Given the description of an element on the screen output the (x, y) to click on. 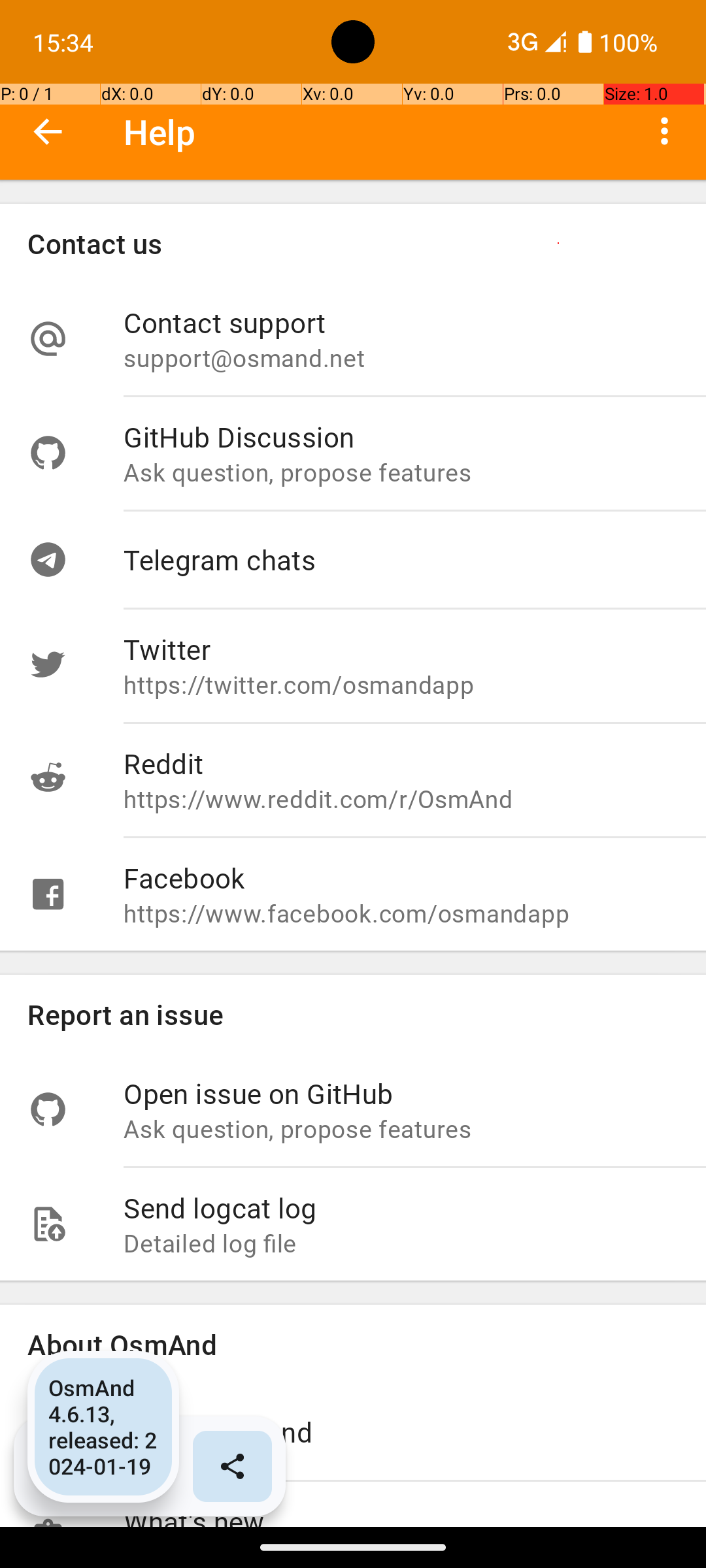
Help Element type: android.widget.TextView (159, 131)
More actions Element type: android.widget.Button (664, 131)
Contact us Element type: android.widget.TextView (352, 242)
Contact support Element type: android.widget.TextView (400, 322)
support@osmand.net Element type: android.widget.TextView (400, 357)
GitHub Discussion Element type: android.widget.TextView (400, 436)
Ask question, propose features Element type: android.widget.TextView (400, 471)
Telegram chats Element type: android.widget.TextView (400, 559)
Twitter Element type: android.widget.TextView (400, 648)
https://twitter.com/osmandapp Element type: android.widget.TextView (400, 684)
Reddit Element type: android.widget.TextView (400, 763)
https://www.reddit.com/r/OsmAnd Element type: android.widget.TextView (400, 798)
Facebook Element type: android.widget.TextView (400, 877)
https://www.facebook.com/osmandapp Element type: android.widget.TextView (400, 912)
Report an issue Element type: android.widget.TextView (352, 1013)
Open issue on GitHub Element type: android.widget.TextView (400, 1092)
Send logcat log Element type: android.widget.TextView (400, 1207)
Detailed log file Element type: android.widget.TextView (400, 1242)
About OsmAnd Element type: android.widget.TextView (352, 1343)
What's new Element type: android.widget.TextView (400, 1514)
OsmAnd 4.6.13, released: 2024-01-19 Element type: android.widget.TextView (102, 1426)
